Given the description of an element on the screen output the (x, y) to click on. 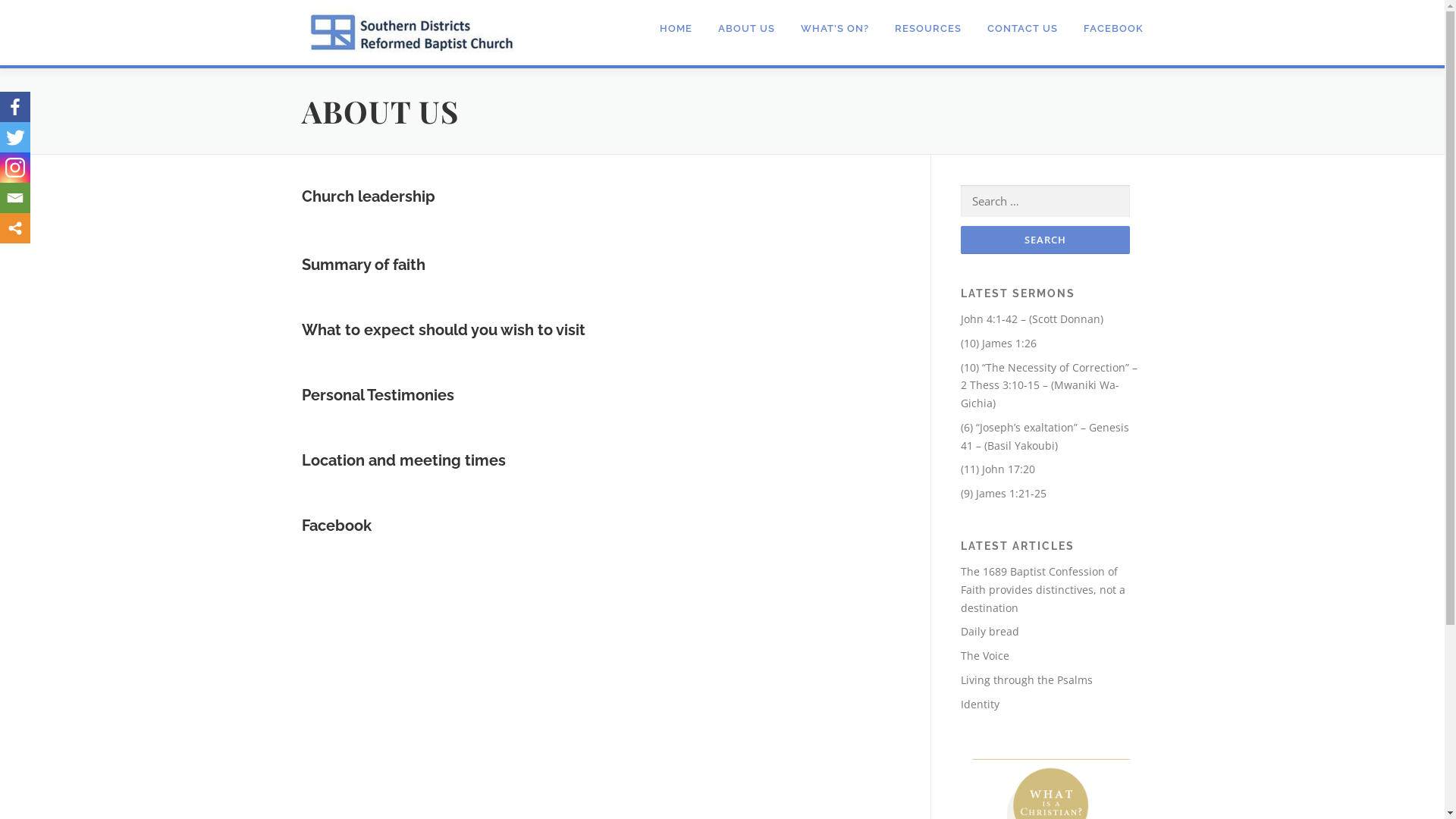
Personal Testimonies Element type: text (377, 394)
Location and meeting times Element type: text (403, 460)
FACEBOOK Element type: text (1106, 28)
Email Element type: hover (15, 197)
Daily bread Element type: text (989, 631)
(9) James 1:21-25 Element type: text (1002, 493)
Twitter Element type: hover (15, 137)
Skip to content Element type: text (37, 9)
More Element type: hover (15, 228)
What to expect should you wish to visit  Element type: text (445, 329)
Facebook  Element type: text (338, 525)
Search Element type: text (1044, 239)
Identity Element type: text (979, 703)
The Voice Element type: text (984, 655)
LATEST ARTICLES Element type: text (1016, 545)
ABOUT US Element type: text (746, 28)
Living through the Psalms Element type: text (1026, 679)
Instagram Element type: hover (15, 167)
CONTACT US Element type: text (1021, 28)
LATEST SERMONS Element type: text (1017, 293)
Summary of faith  Element type: text (365, 264)
(10) James 1:26 Element type: text (997, 342)
RESOURCES Element type: text (927, 28)
(11) John 17:20 Element type: text (997, 468)
Facebook Element type: hover (15, 106)
Church leadership  Element type: text (370, 196)
HOME Element type: text (675, 28)
